Given the description of an element on the screen output the (x, y) to click on. 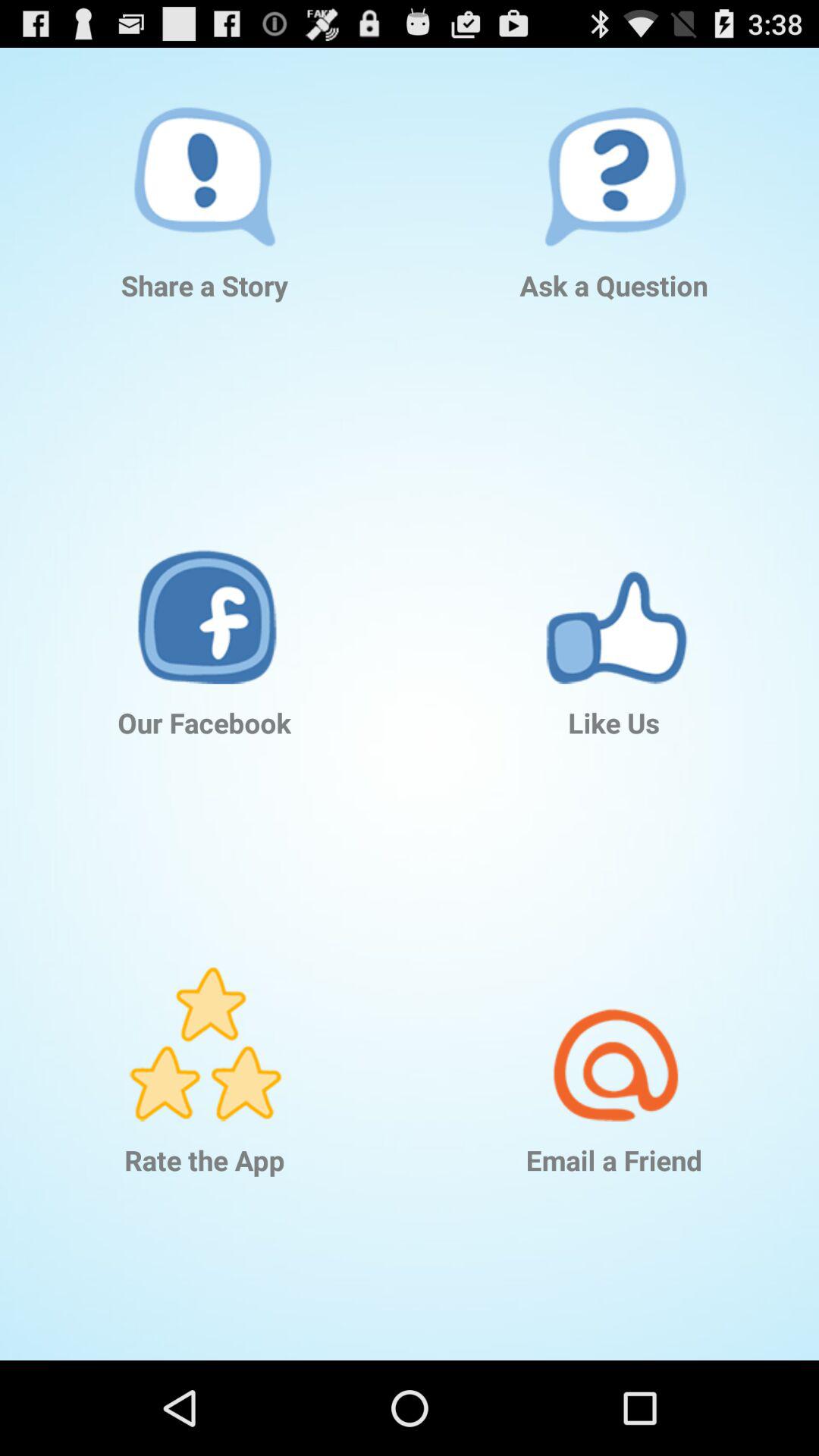
launch the app below the share a story (204, 584)
